Given the description of an element on the screen output the (x, y) to click on. 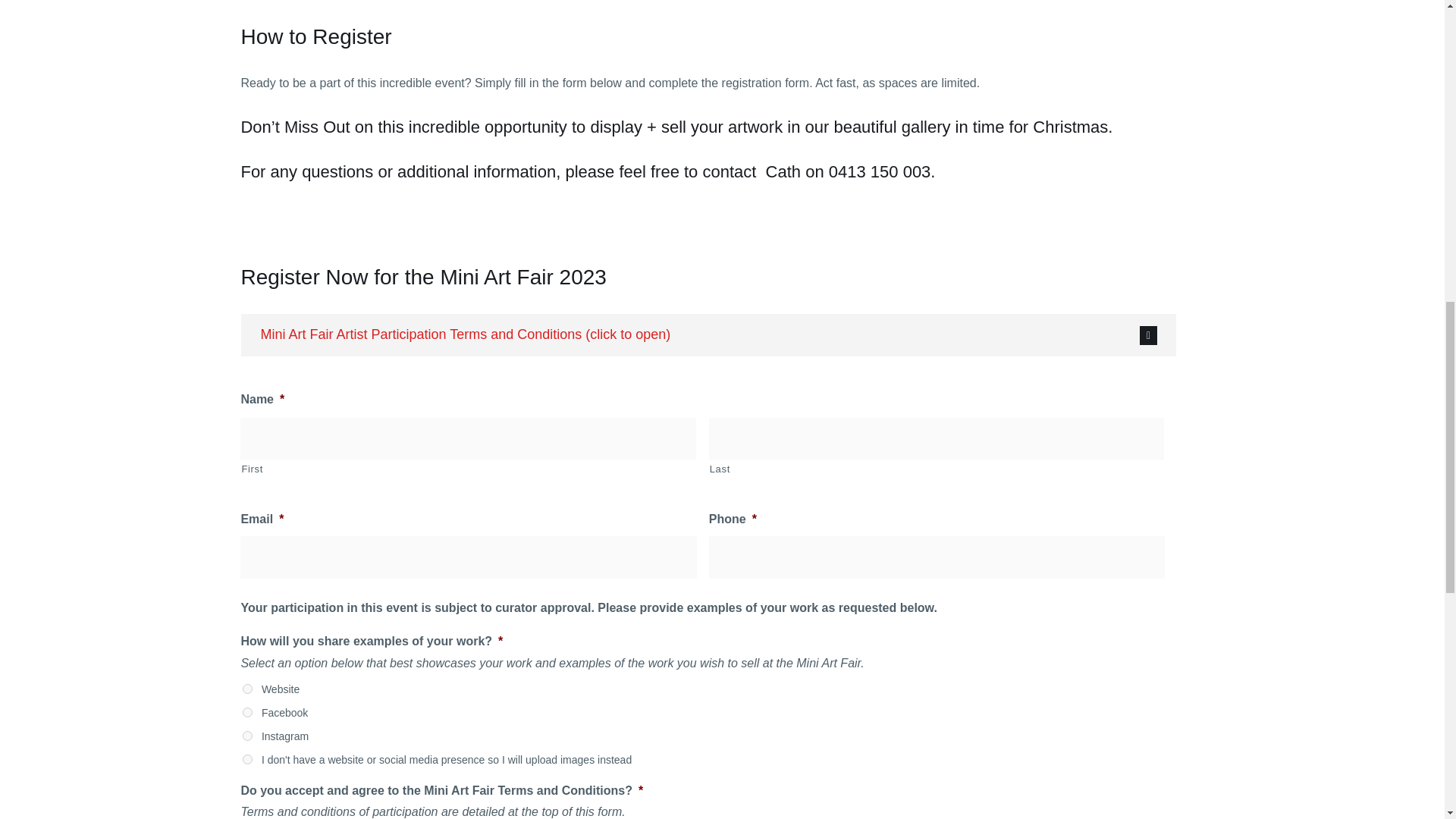
Facebook (247, 712)
Instagram (247, 736)
Website (247, 688)
